Given the description of an element on the screen output the (x, y) to click on. 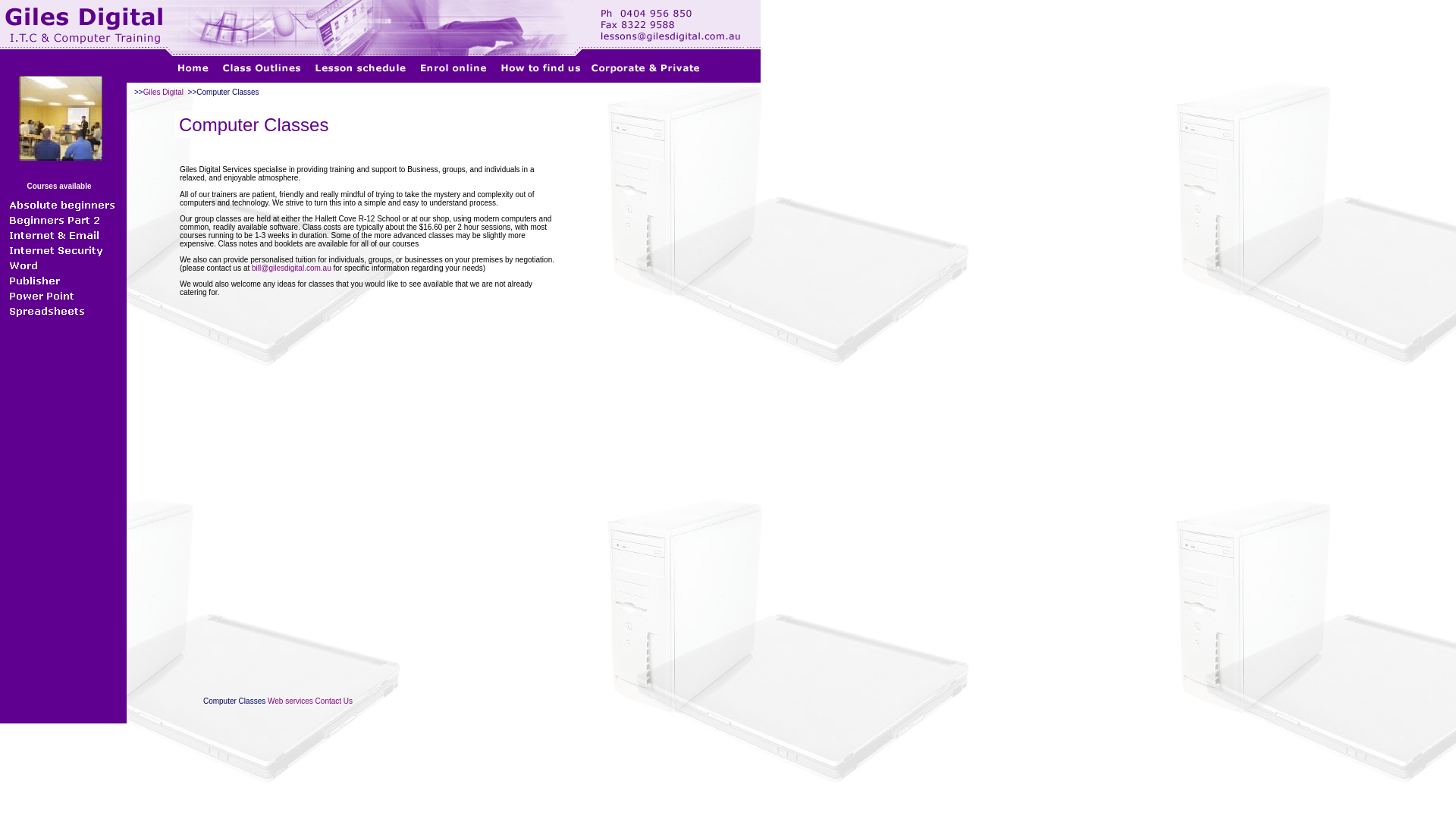
send email Element type: text (36, 13)
Web services Element type: text (290, 700)
Internet Security Element type: hover (62, 249)
Spreadsheets Element type: hover (62, 310)
Beginners Part 2 Element type: hover (62, 219)
Giles Digital Element type: text (163, 91)
training Element type: hover (60, 117)
bill@gilesdigital.com.au Element type: text (291, 267)
Absolute beginners Element type: hover (62, 204)
Internet & Email Element type: hover (62, 234)
Publisher Element type: hover (62, 280)
Contact Us Element type: text (333, 700)
Word Element type: hover (62, 265)
Power Point Element type: hover (62, 295)
